Given the description of an element on the screen output the (x, y) to click on. 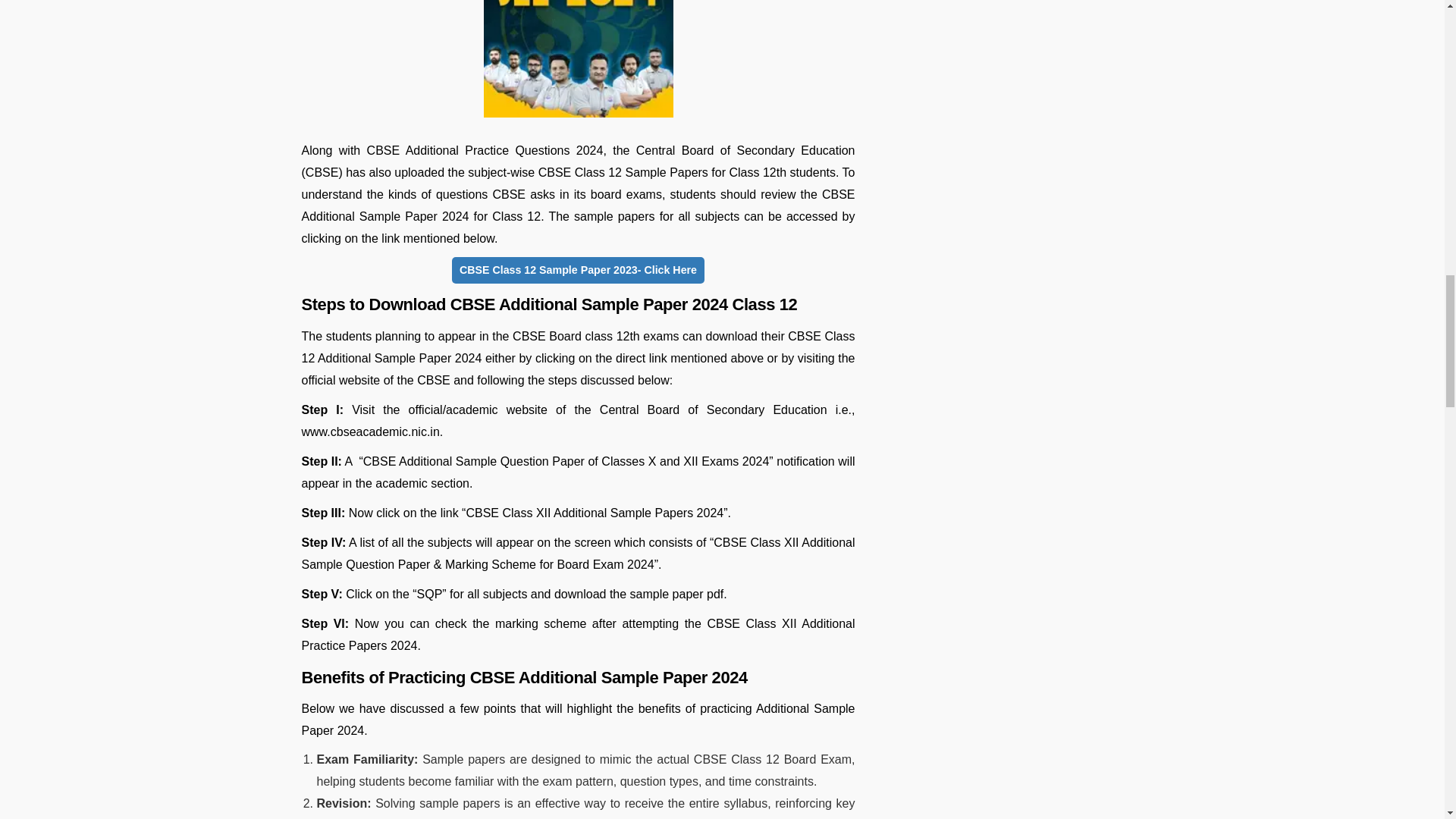
CBSE Class 12 Sample Paper 2023- Click Here (577, 272)
CBSE Class 12 Sample Paper 2023- Click Here (577, 270)
